Given the description of an element on the screen output the (x, y) to click on. 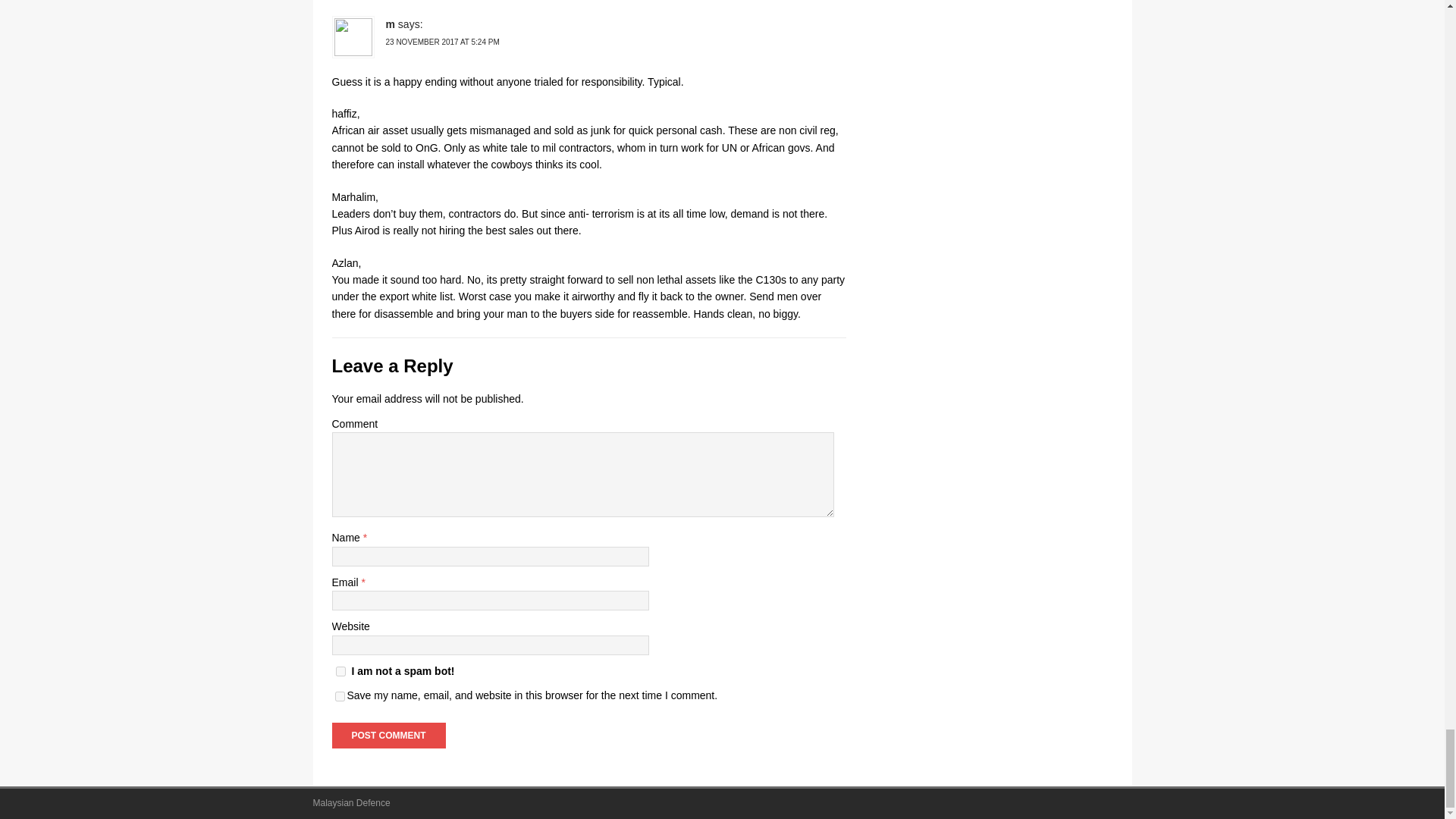
yes (339, 696)
on (340, 671)
Post Comment (388, 735)
